Given the description of an element on the screen output the (x, y) to click on. 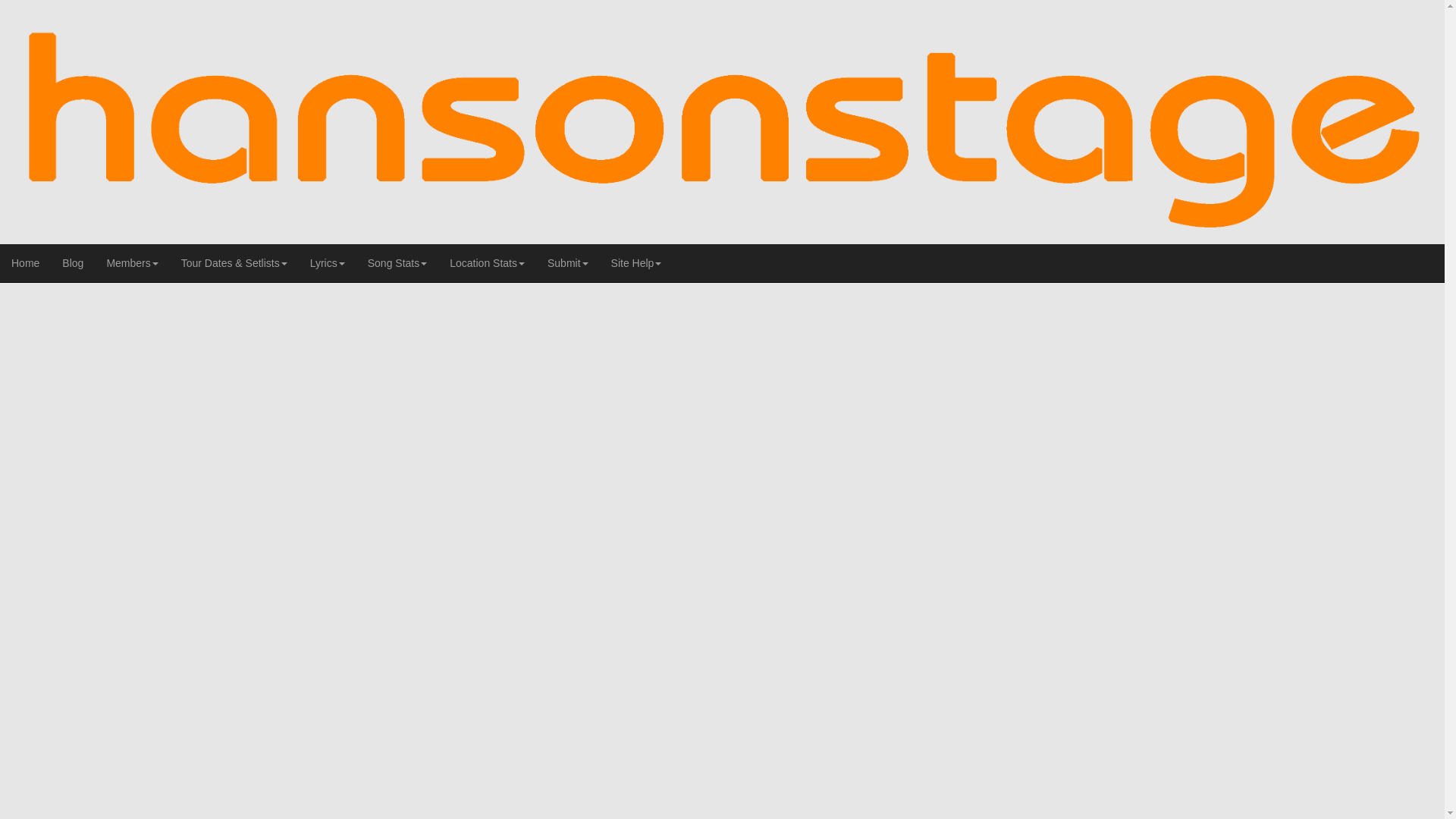
Blog (72, 262)
Members (131, 262)
Home (25, 262)
